Given the description of an element on the screen output the (x, y) to click on. 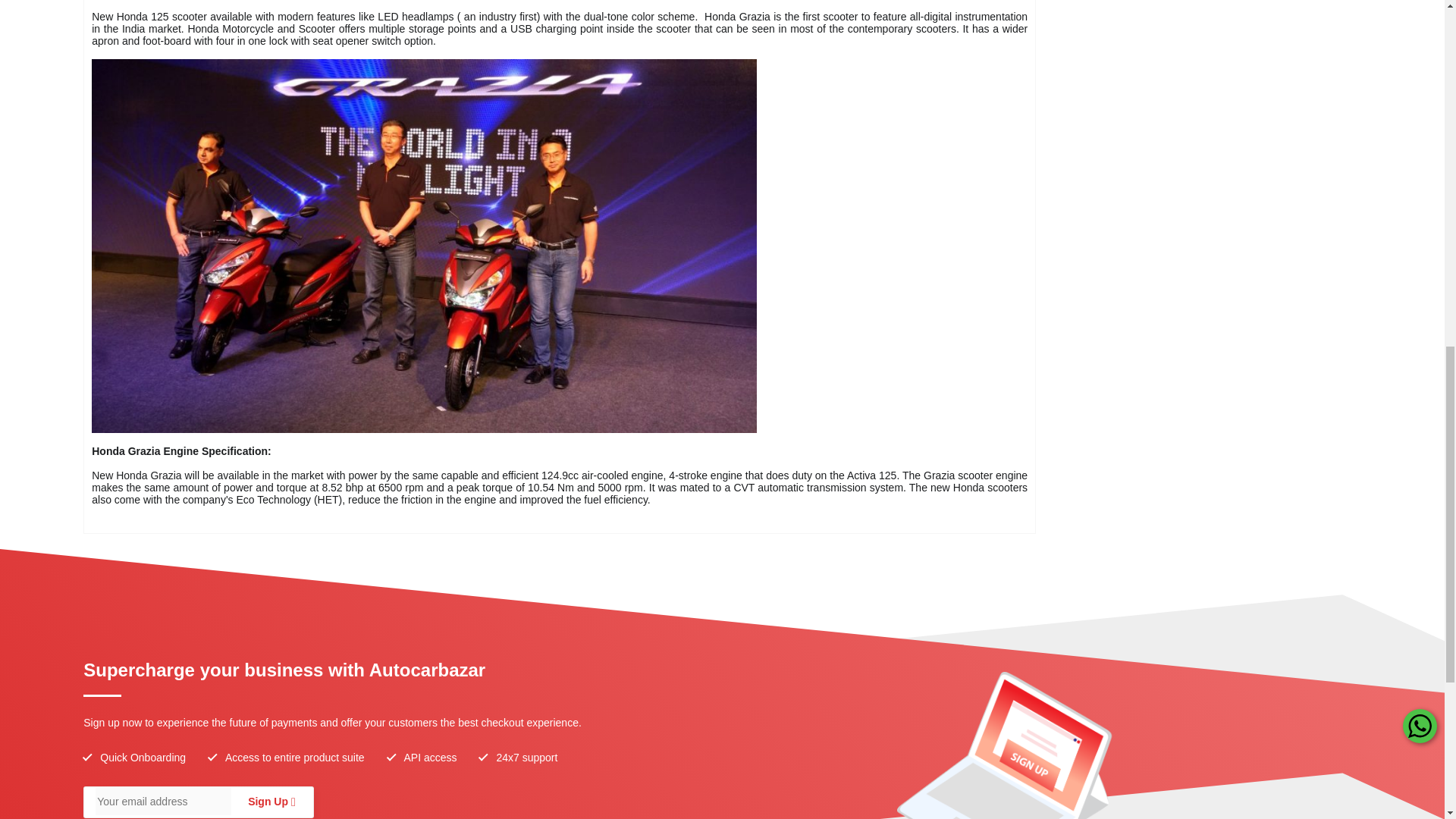
Sign Up (267, 801)
